Given the description of an element on the screen output the (x, y) to click on. 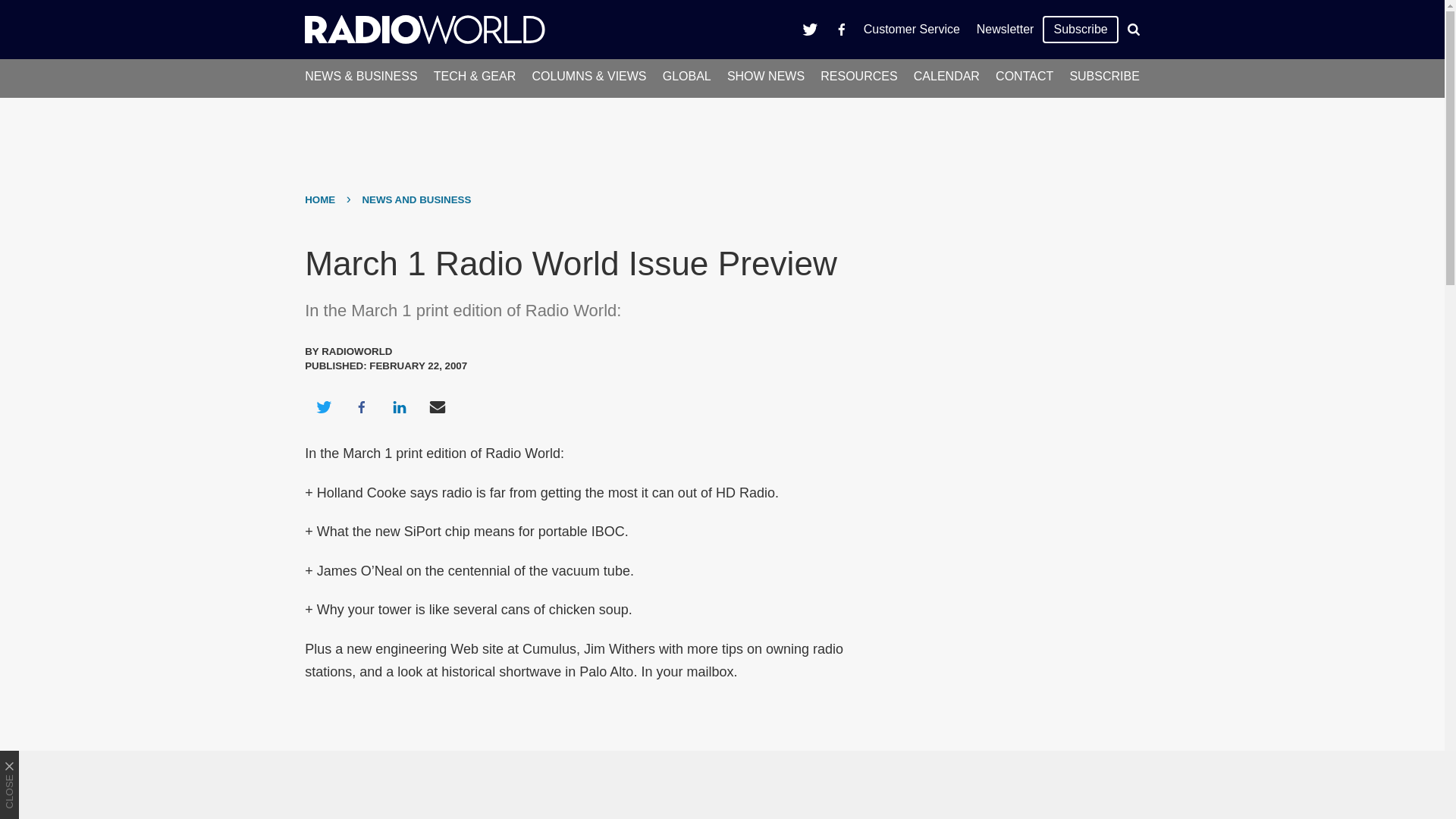
Share on LinkedIn (399, 406)
Share via Email (438, 406)
Customer Service (912, 29)
Share on Facebook (361, 406)
Share on Twitter (323, 406)
